Given the description of an element on the screen output the (x, y) to click on. 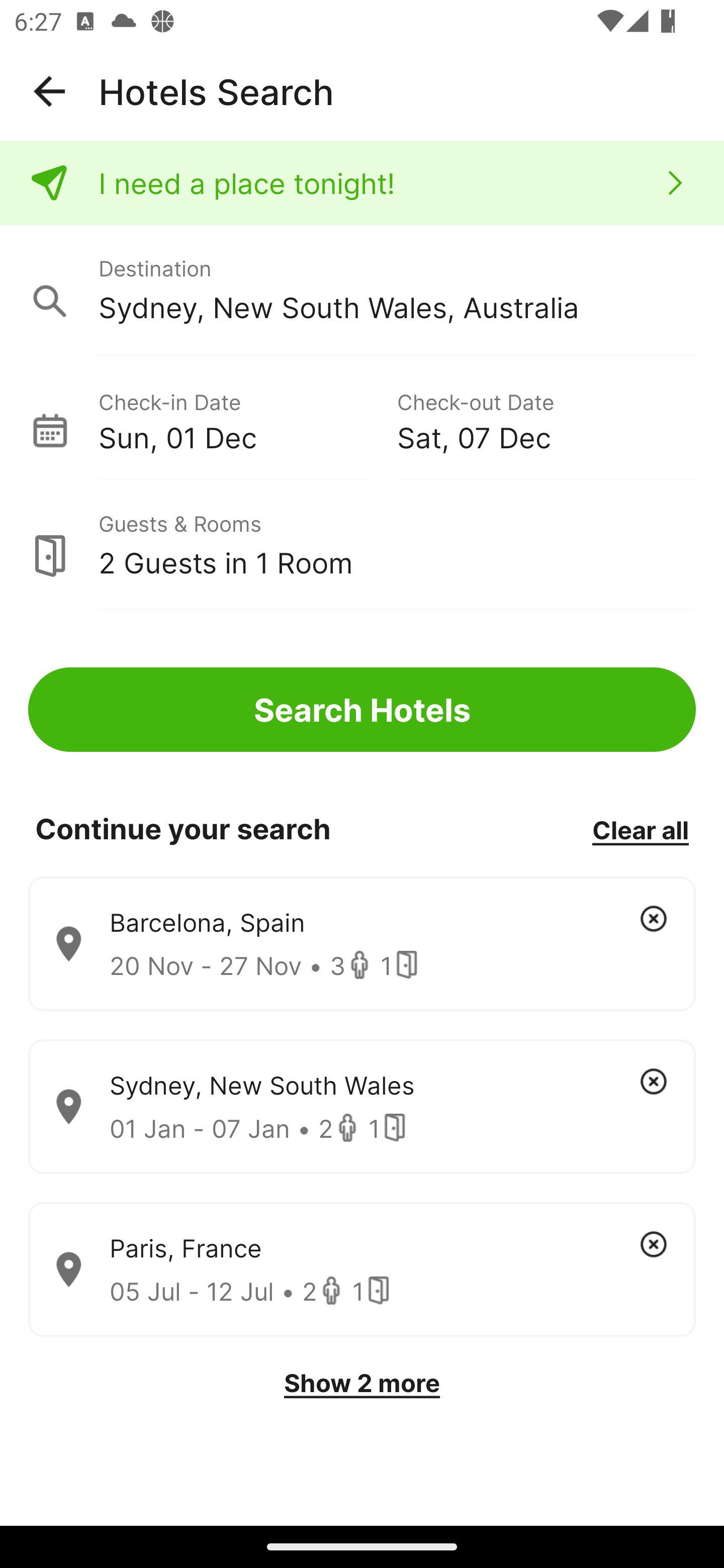
I need a place tonight! (362, 183)
Destination Sydney, New South Wales, Australia (362, 290)
Check-in Date Sun, 01 Dec (247, 418)
Check-out Date Sat, 07 Dec (546, 418)
Guests & Rooms 2 Guests in 1 Room (362, 545)
Search Hotels (361, 709)
Clear all (640, 829)
Barcelona, Spain 20 Nov - 27 Nov • 3  1  (361, 943)
Sydney, New South Wales 01 Jan - 07 Jan • 2  1  (361, 1106)
Paris, France 05 Jul - 12 Jul • 2  1  (361, 1269)
Show 2 more (362, 1382)
